Given the description of an element on the screen output the (x, y) to click on. 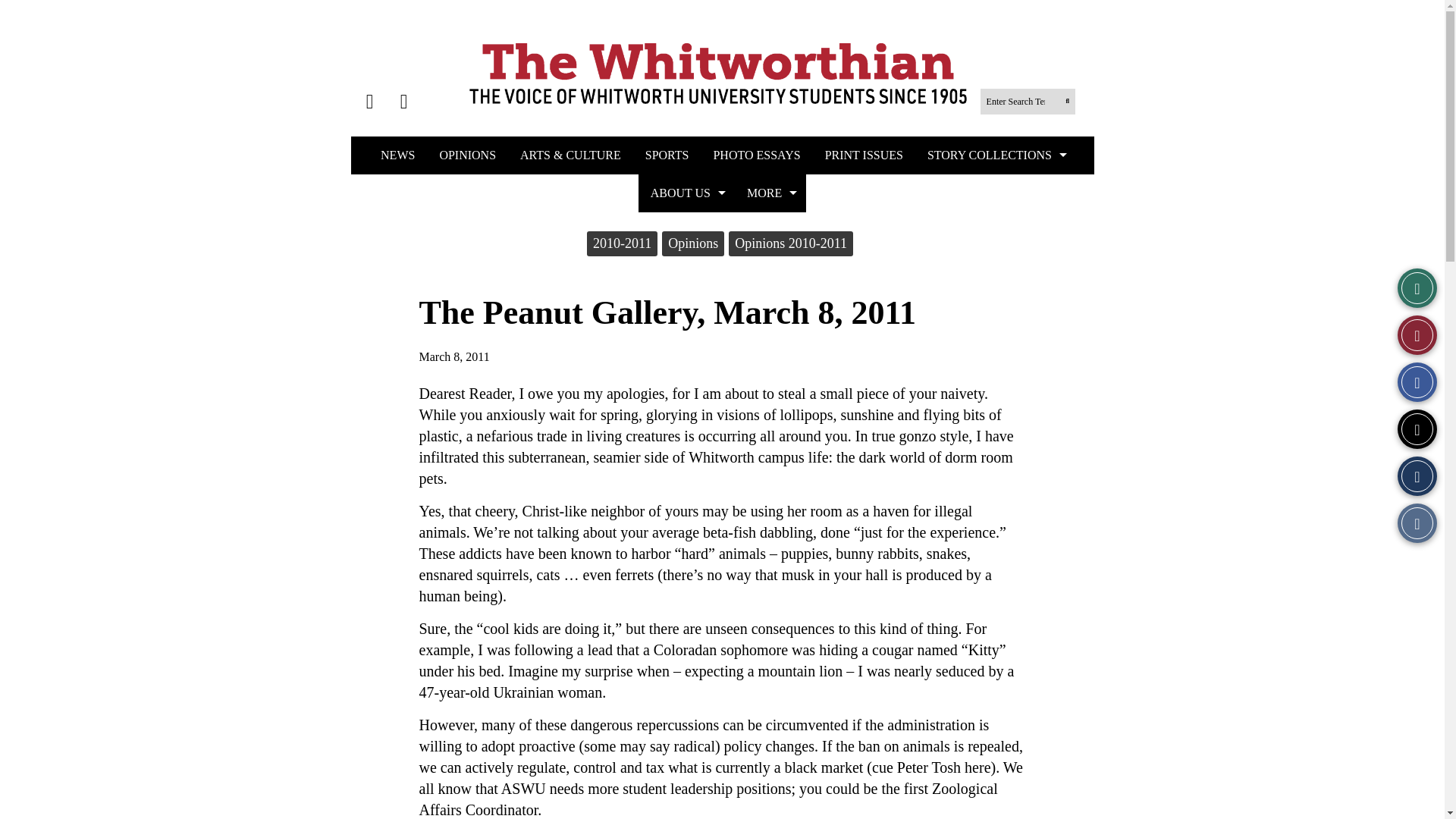
PHOTO ESSAYS (756, 155)
MORE (770, 193)
PRINT ISSUES (863, 155)
STORY COLLECTIONS (995, 155)
SPORTS (667, 155)
ABOUT US (687, 193)
OPINIONS (467, 155)
NEWS (397, 155)
